Given the description of an element on the screen output the (x, y) to click on. 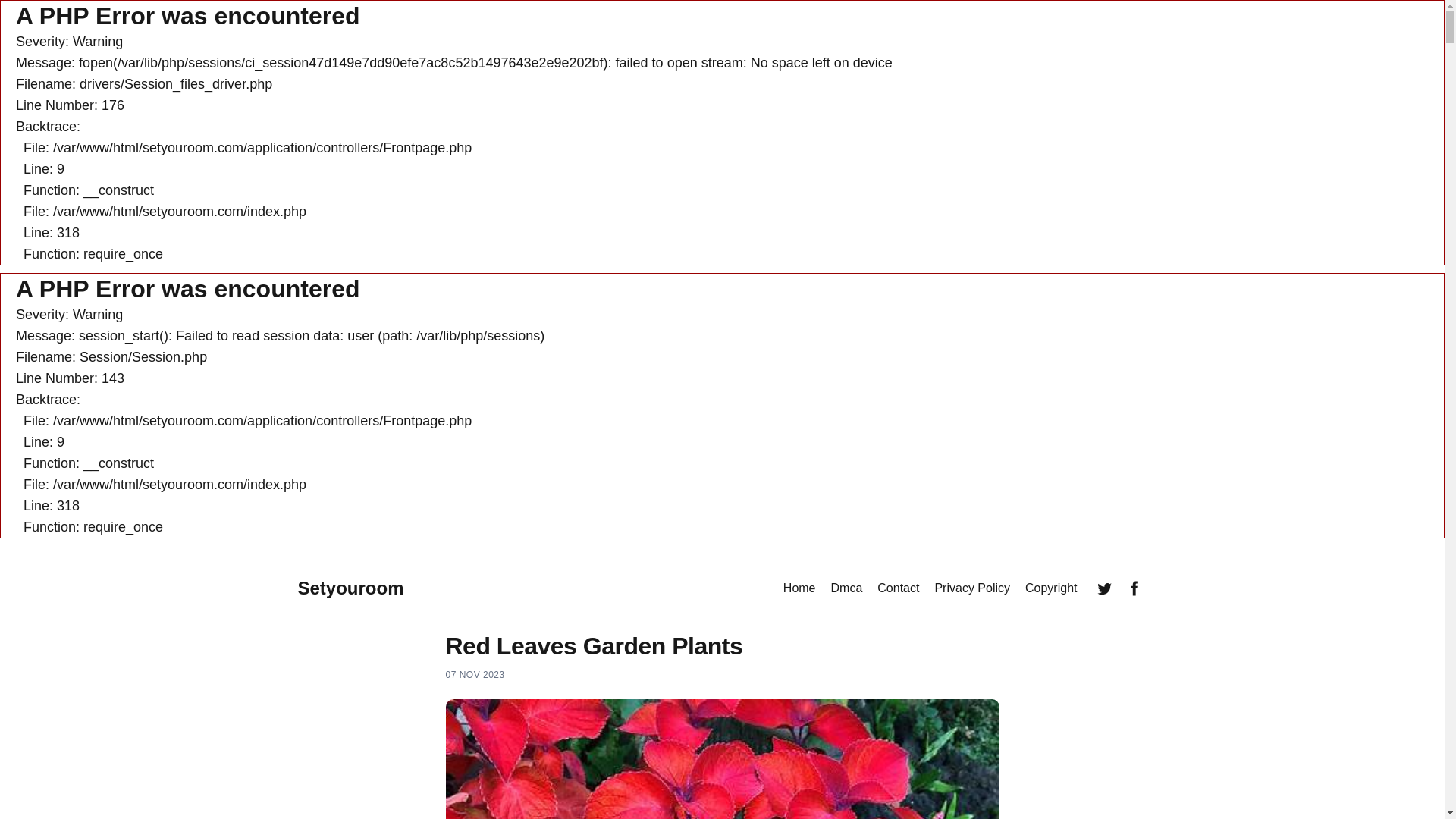
Home (799, 588)
Contact (897, 588)
Dmca (847, 588)
Setyouroom (350, 588)
Facebook (1134, 588)
Privacy Policy (972, 588)
Twitter (1104, 588)
Copyright (1051, 588)
